Given the description of an element on the screen output the (x, y) to click on. 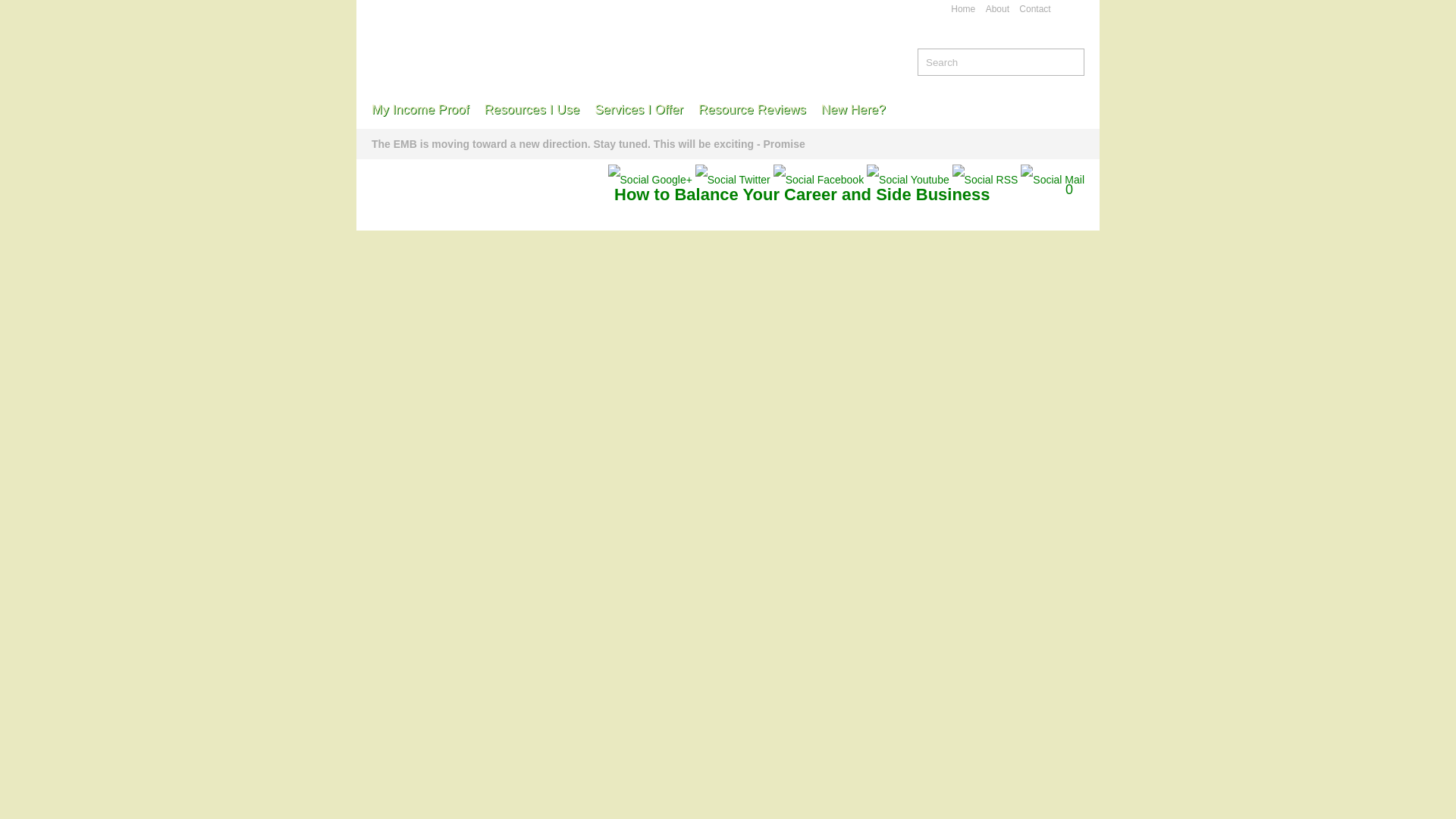
About (997, 9)
My Income Proof (420, 109)
Services I Offer (638, 109)
Home (962, 9)
Resources I Use (531, 109)
Search (1072, 60)
The Extra Money Blog (553, 38)
Contact (1034, 9)
Resource Reviews (751, 109)
Search (1072, 60)
Search (985, 62)
How to Balance Your Career and Side Business (802, 194)
New Here? (853, 109)
